Given the description of an element on the screen output the (x, y) to click on. 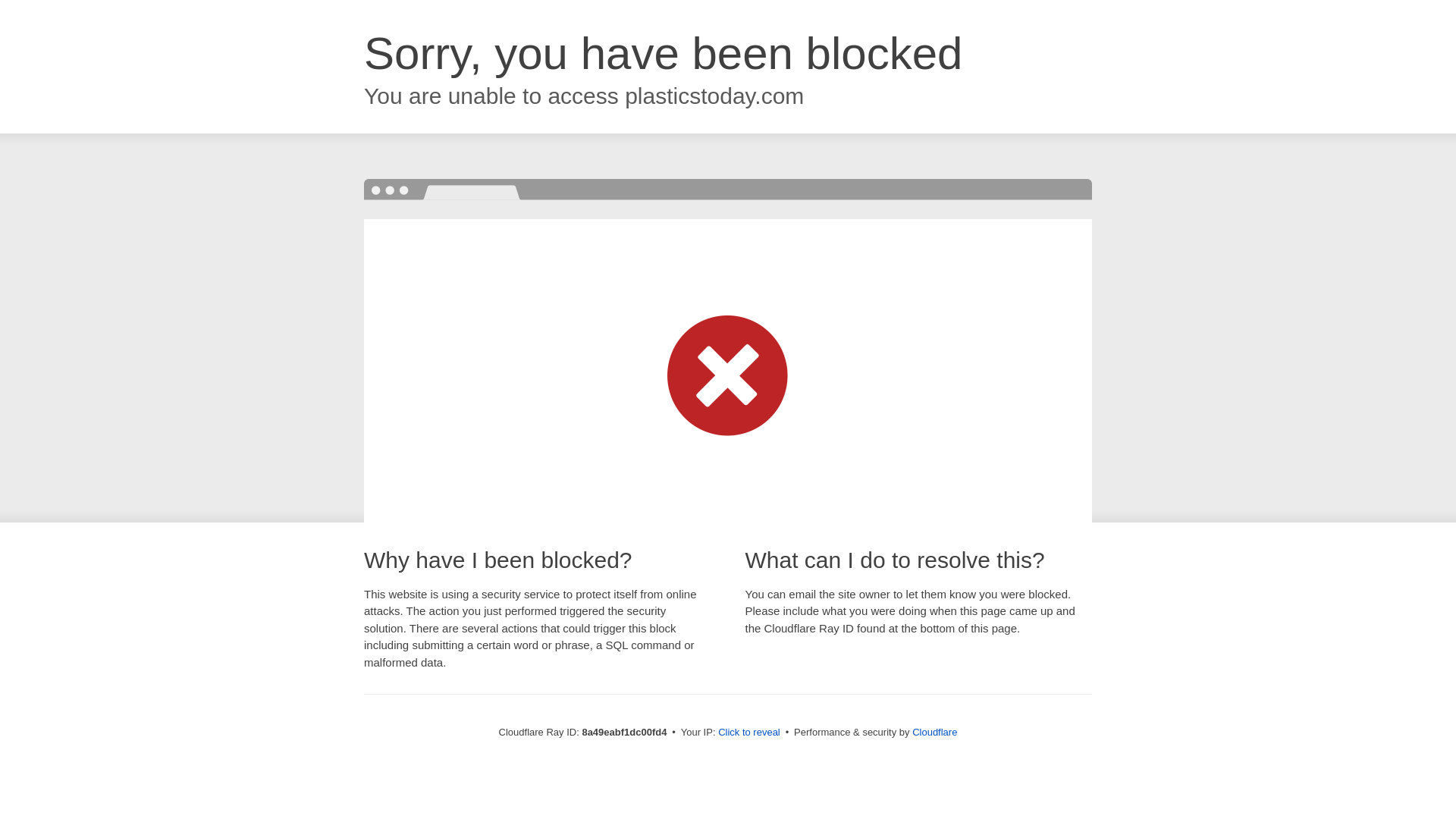
Cloudflare (934, 731)
Click to reveal (748, 732)
